Given the description of an element on the screen output the (x, y) to click on. 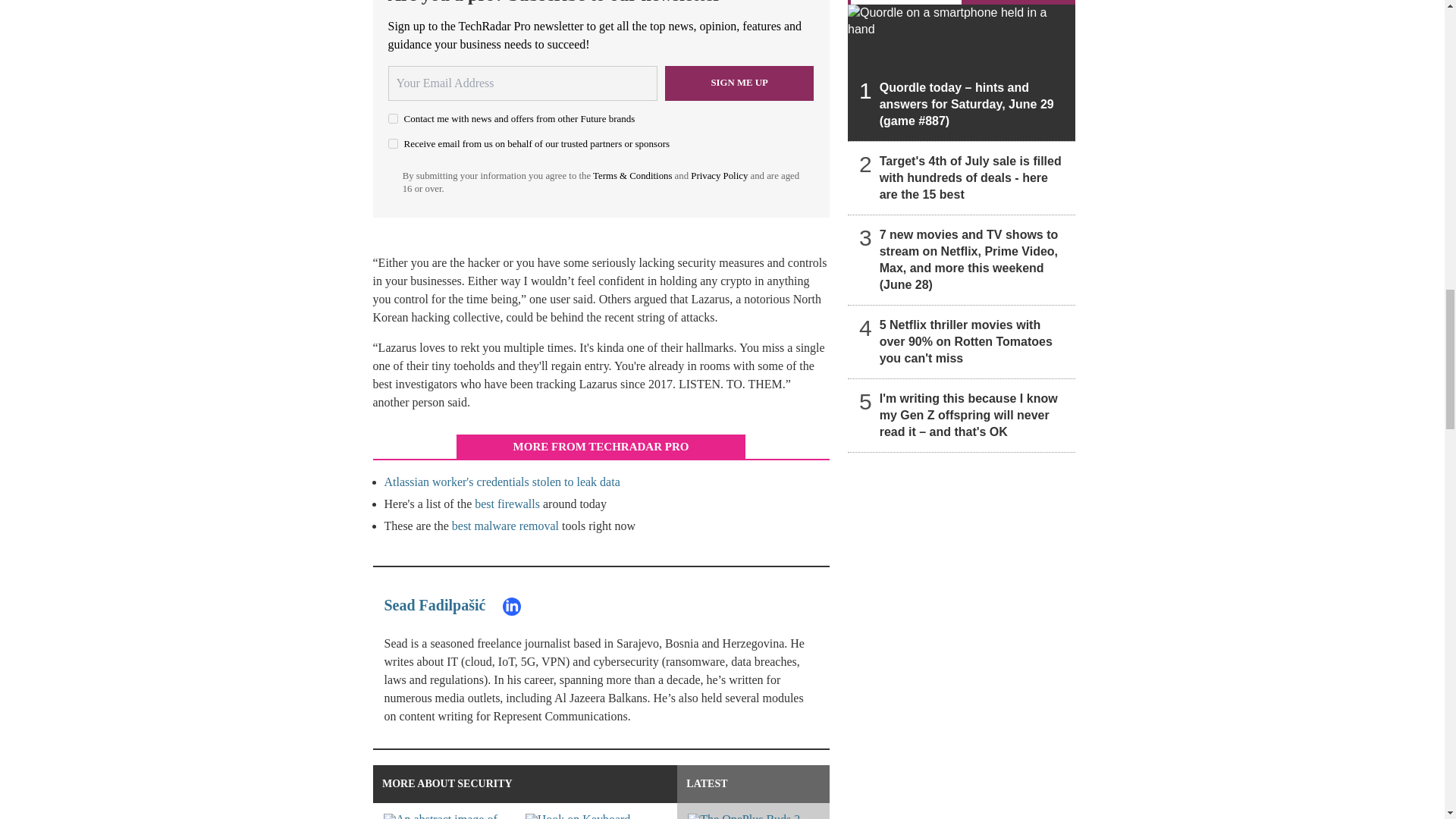
on (392, 143)
Sign me up (739, 83)
on (392, 118)
